Given the description of an element on the screen output the (x, y) to click on. 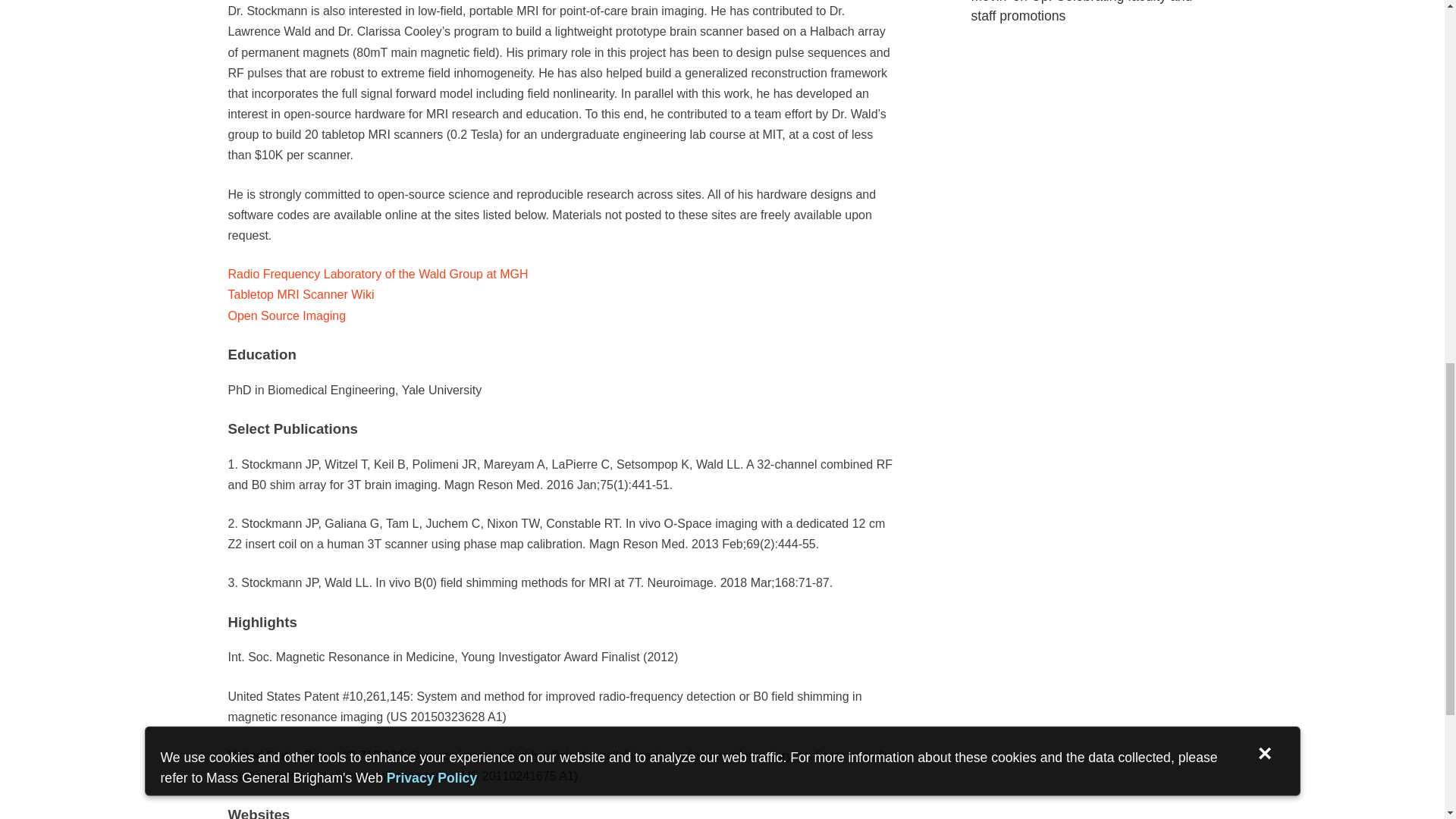
Radio Frequency Laboratory of the Wald Group at MGH (377, 273)
